Given the description of an element on the screen output the (x, y) to click on. 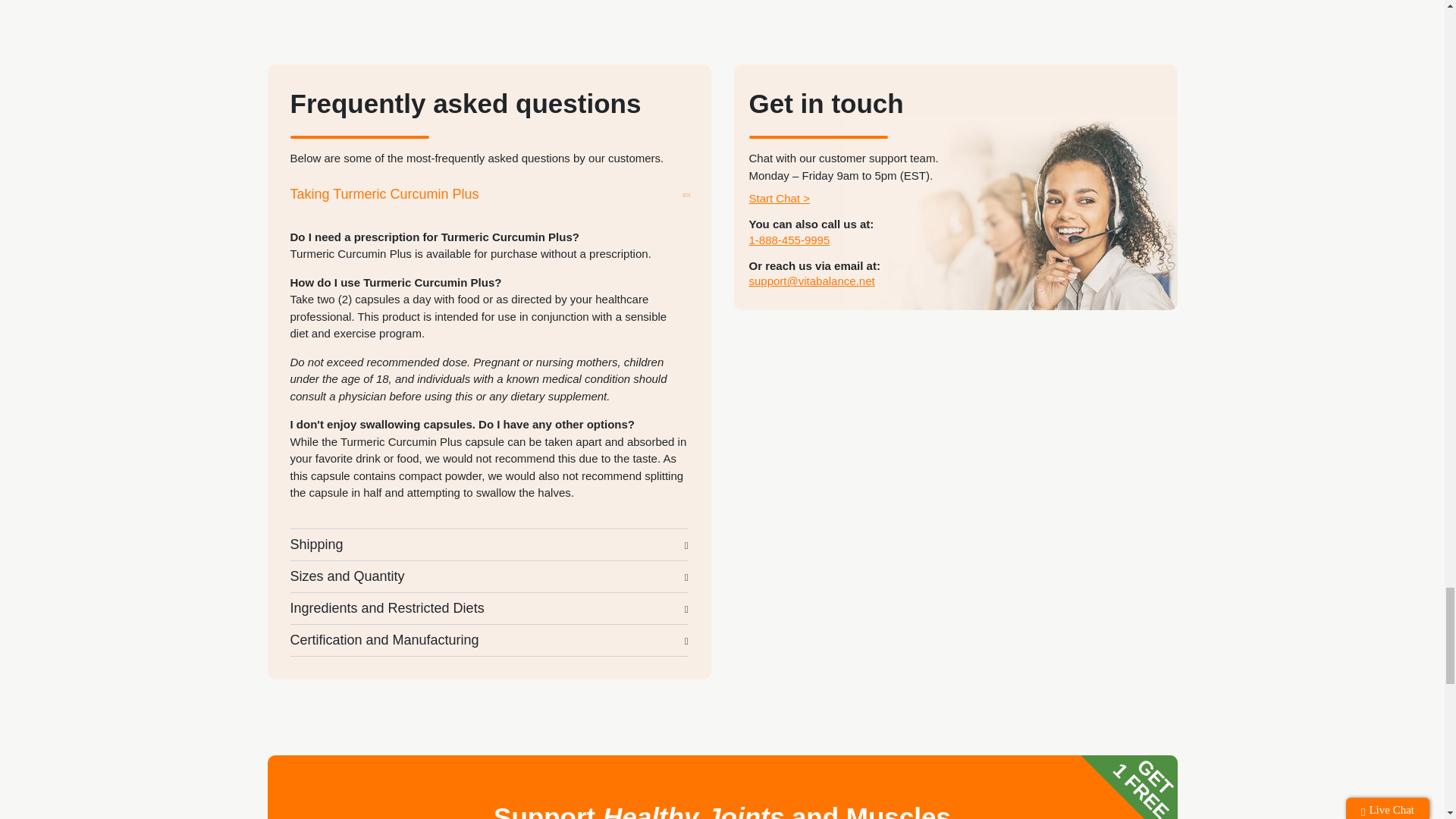
1-888-455-9995 (789, 239)
